Given the description of an element on the screen output the (x, y) to click on. 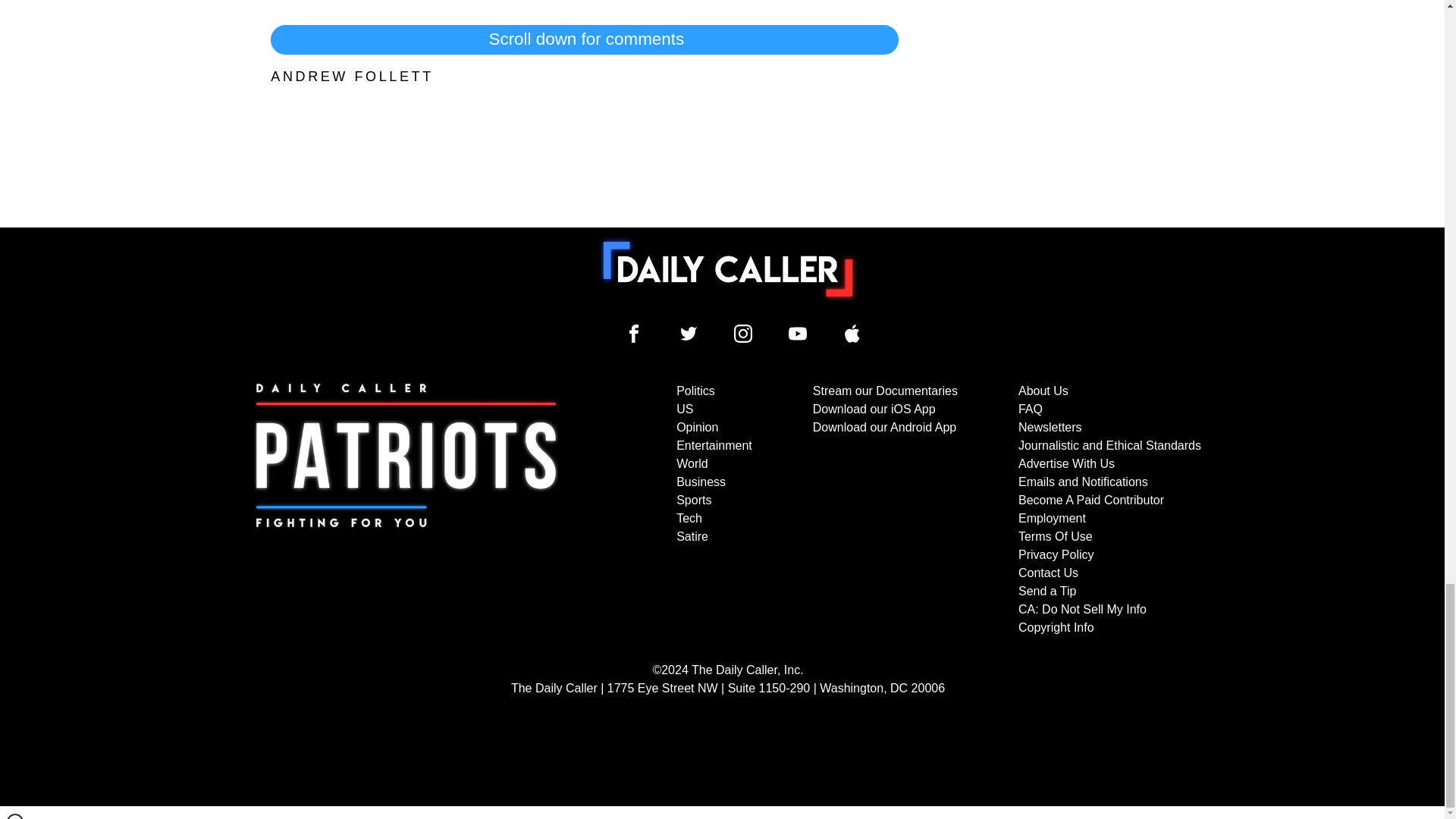
Daily Caller Facebook (633, 333)
Daily Caller Instagram (742, 333)
Daily Caller Twitter (688, 333)
Subscribe to The Daily Caller (405, 509)
Daily Caller YouTube (797, 333)
Daily Caller YouTube (852, 333)
To home page (727, 268)
Scroll down for comments (584, 39)
